Given the description of an element on the screen output the (x, y) to click on. 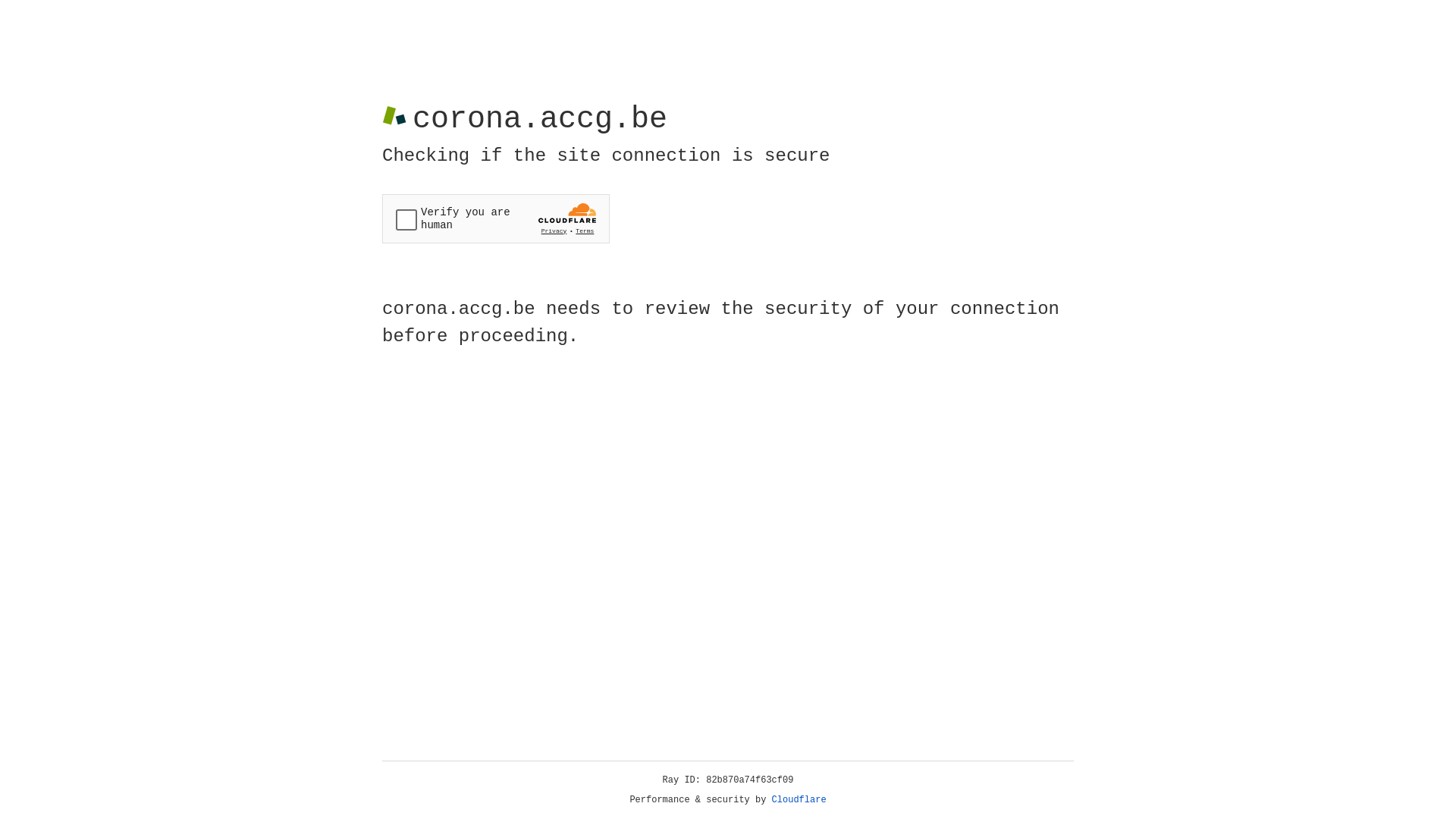
Widget containing a Cloudflare security challenge Element type: hover (495, 218)
Cloudflare Element type: text (798, 799)
